Given the description of an element on the screen output the (x, y) to click on. 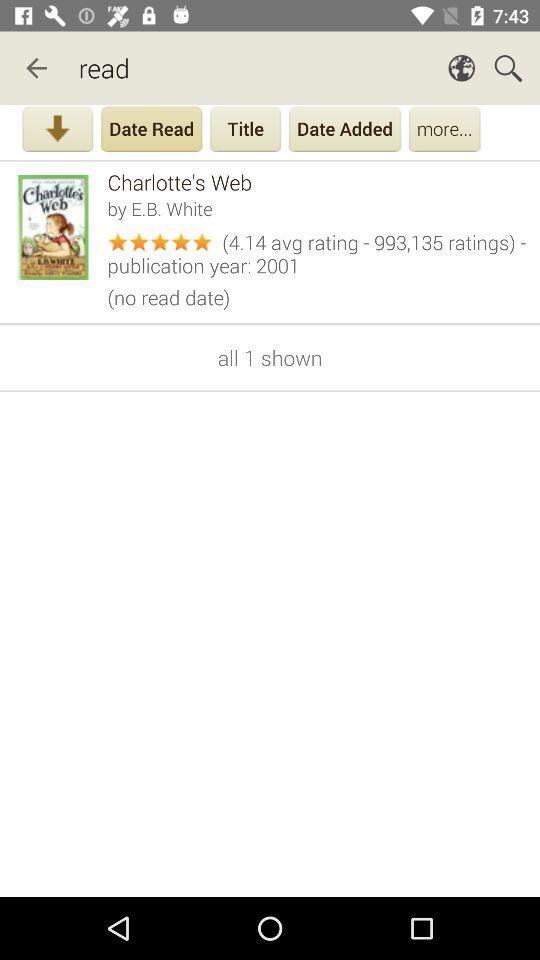
turn on icon below the by e b icon (316, 251)
